Given the description of an element on the screen output the (x, y) to click on. 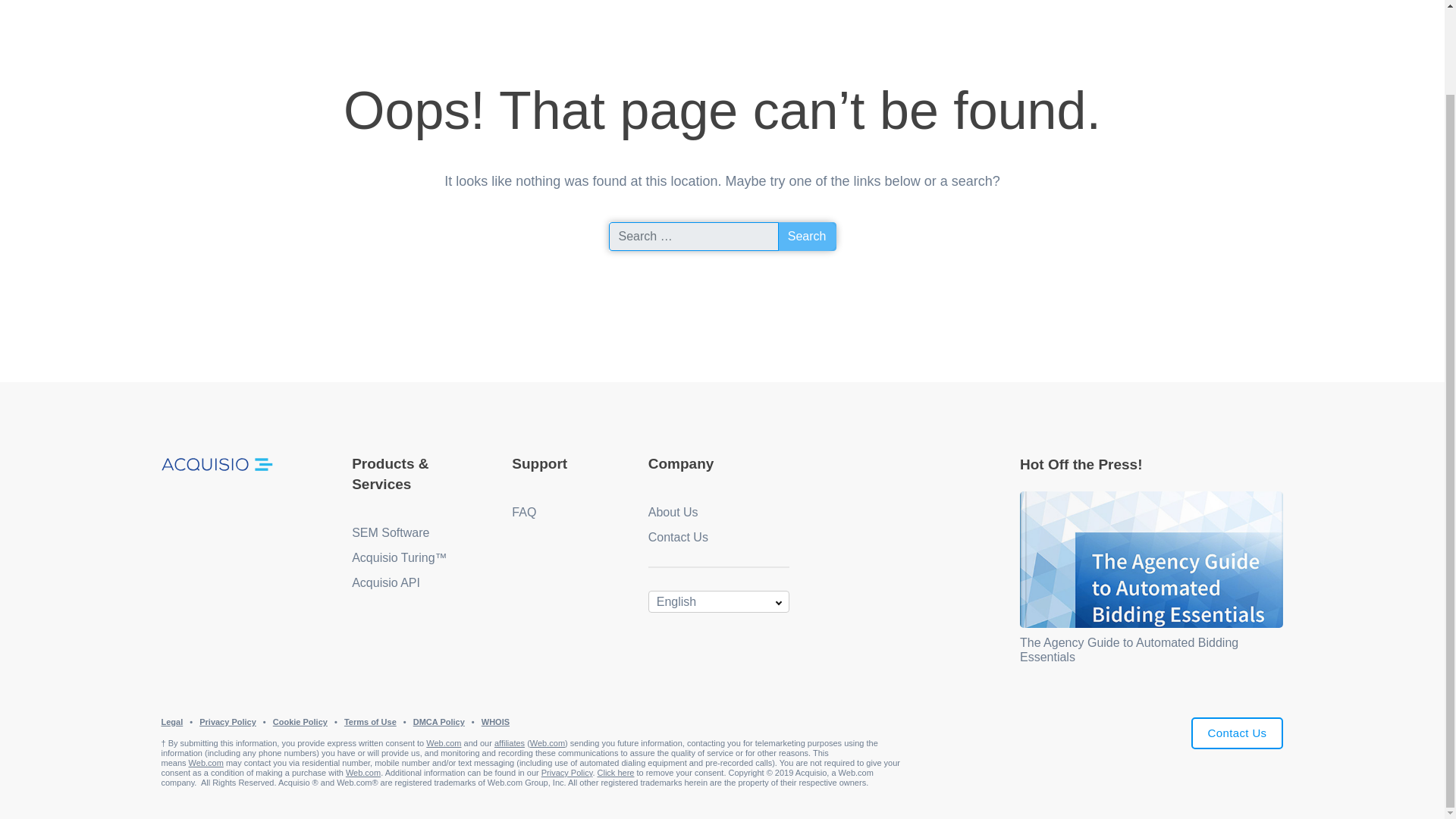
English (718, 601)
About Us (672, 512)
Terms of Use (369, 721)
Cookie Policy (300, 721)
Web.com (443, 742)
Privacy Policy (227, 721)
FAQ (523, 512)
DMCA Policy (438, 721)
Search (806, 235)
Acquisio API (386, 582)
Support (539, 463)
Contact Us (1237, 733)
WHOIS (495, 721)
The Agency Guide to Automated Bidding Essentials (1129, 648)
Company (680, 463)
